Given the description of an element on the screen output the (x, y) to click on. 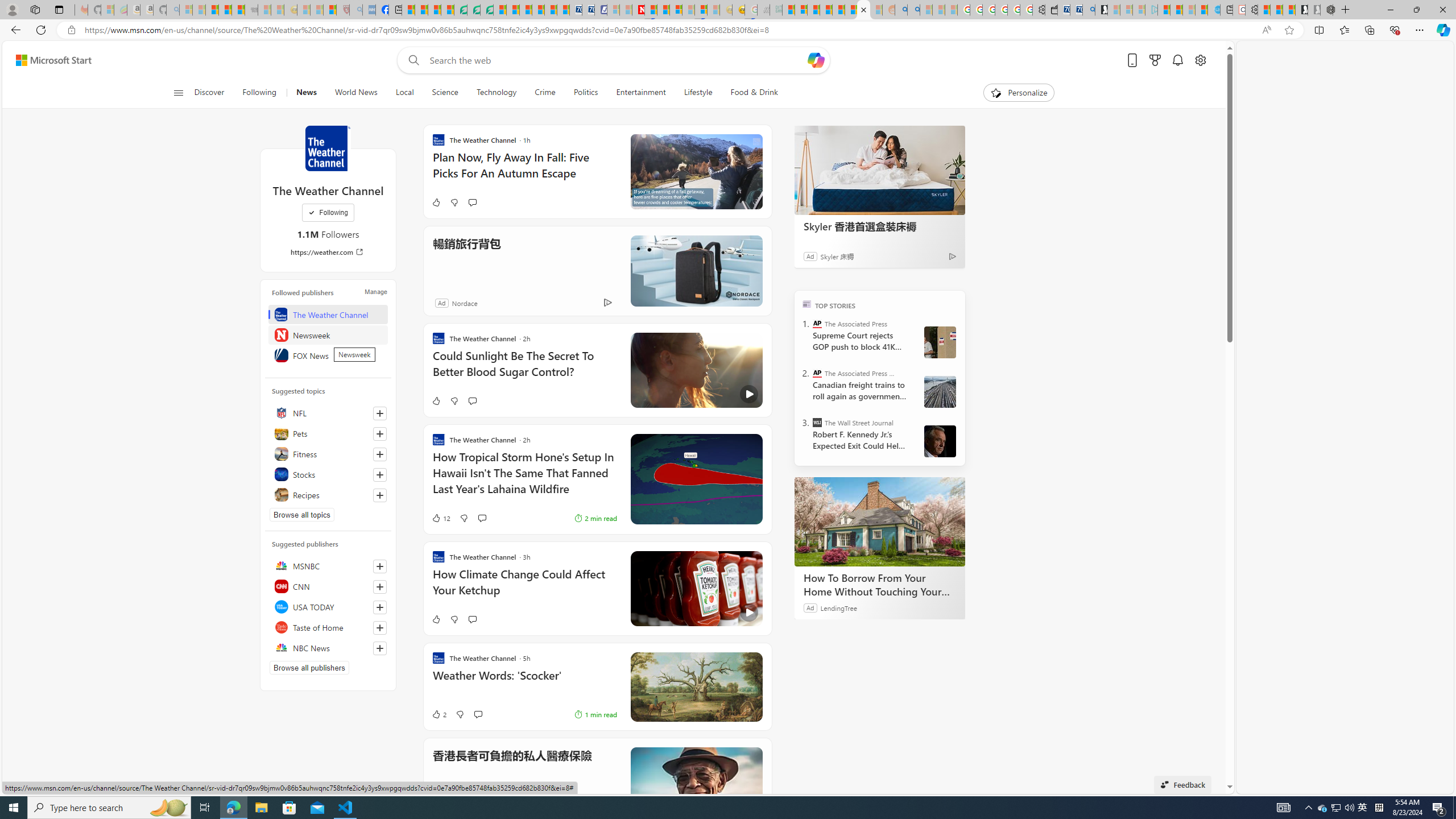
Could Sunlight Be The Secret To Better Blood Sugar Control? (524, 369)
Taste of Home (327, 627)
NFL (327, 412)
